Given the description of an element on the screen output the (x, y) to click on. 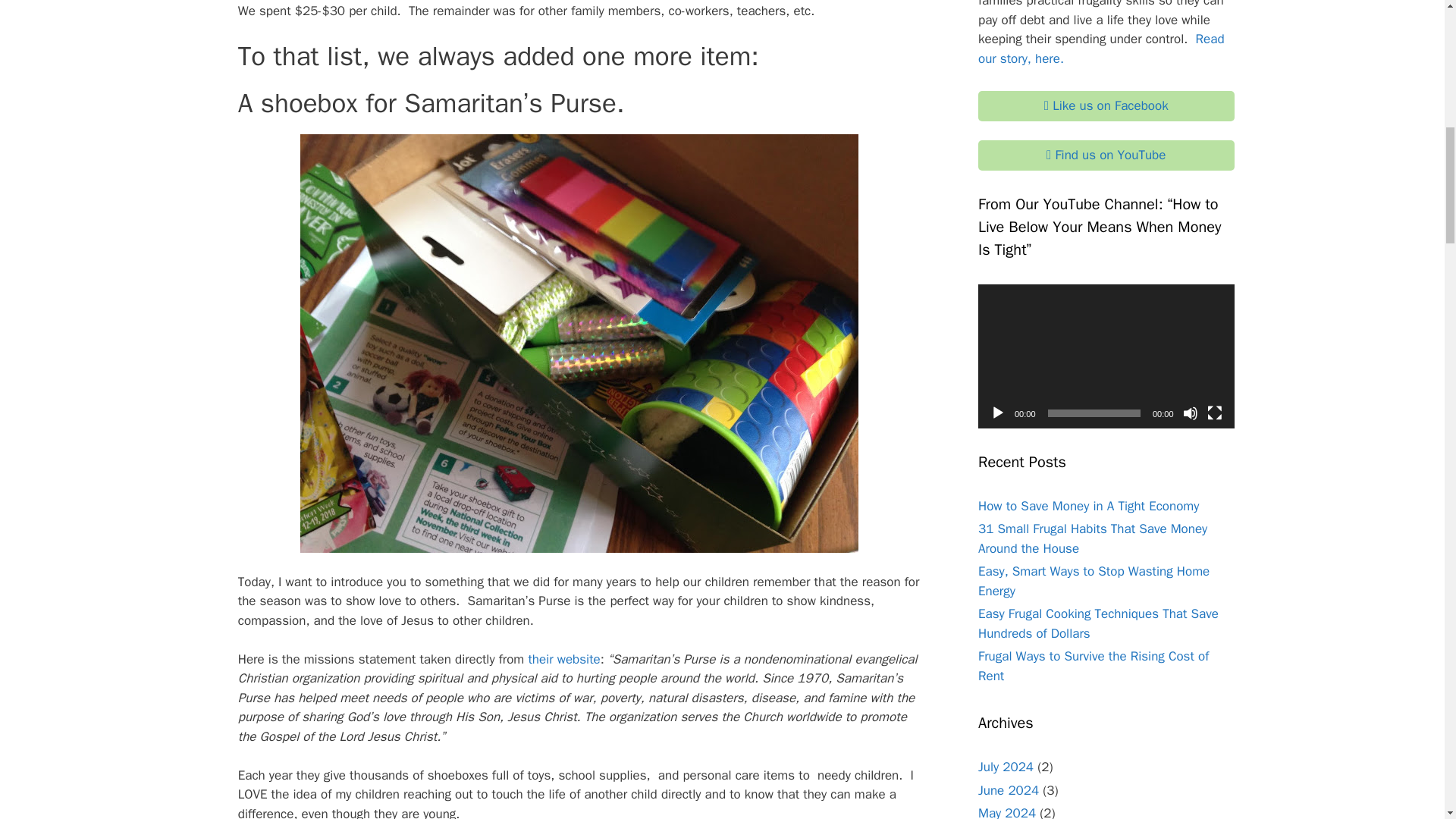
 Read our story, here.  (1101, 48)
Play (998, 412)
Find us on YouTube (1106, 155)
their website (563, 659)
Like us on Facebook (1106, 105)
Mute (1190, 412)
Fullscreen (1215, 412)
